Given the description of an element on the screen output the (x, y) to click on. 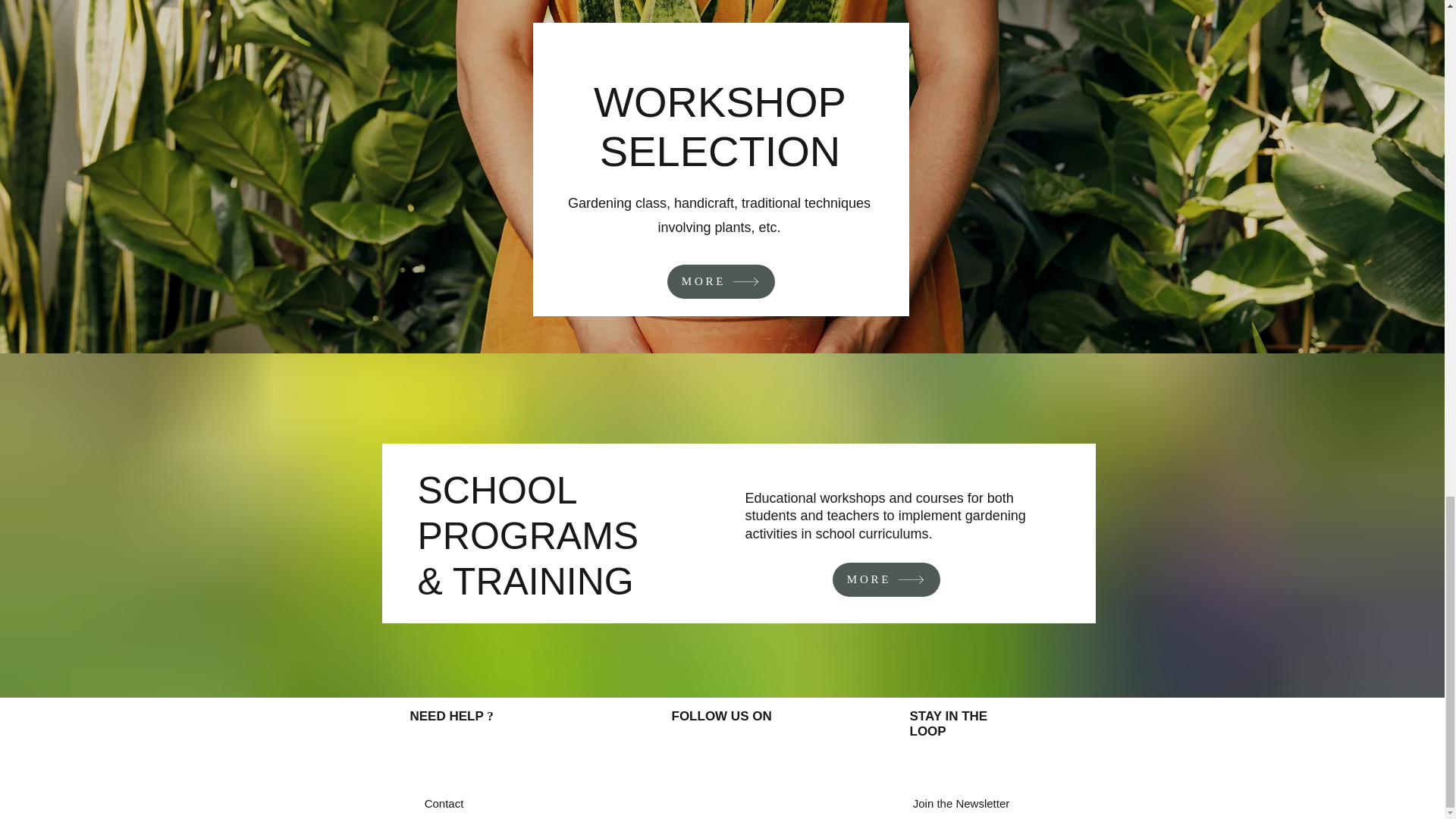
MORE (720, 281)
MORE (886, 579)
